Given the description of an element on the screen output the (x, y) to click on. 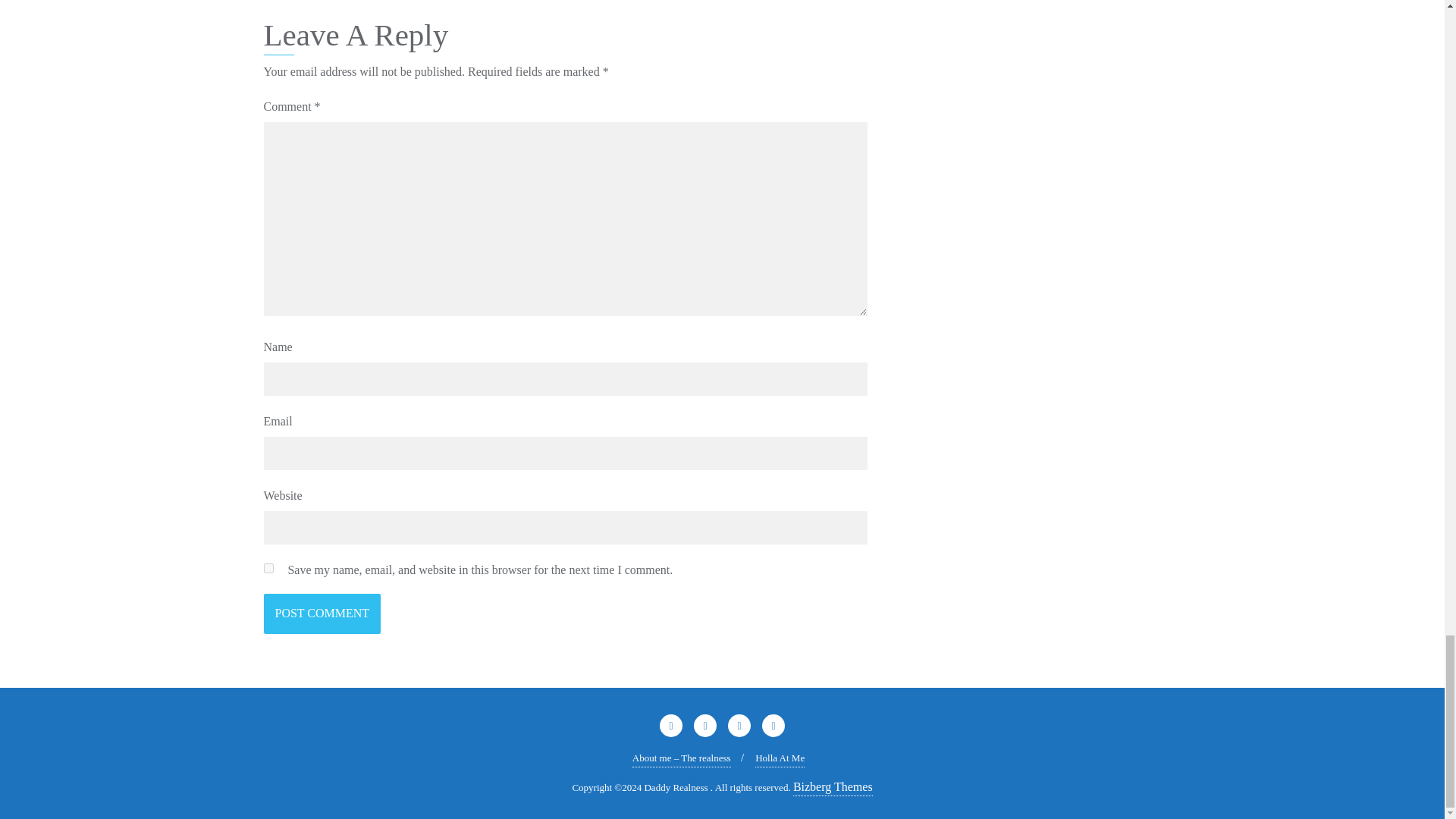
Post Comment (322, 613)
Post Comment (322, 613)
yes (268, 568)
Bizberg Themes (832, 787)
Holla At Me (780, 758)
